Given the description of an element on the screen output the (x, y) to click on. 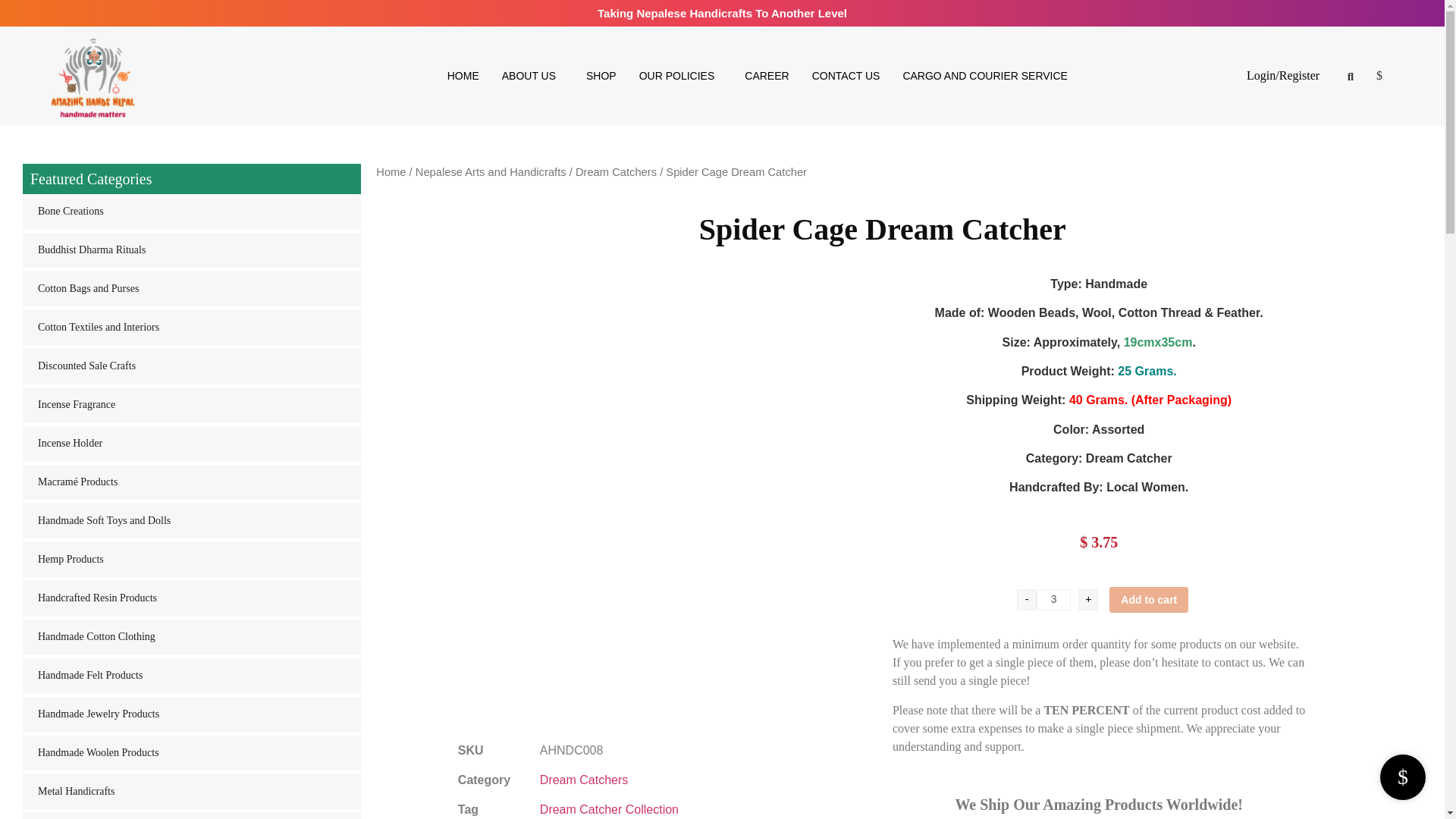
ABOUT US (532, 75)
CAREER (766, 75)
HOME (462, 75)
CONTACT US (845, 75)
Qty (1053, 599)
OUR POLICIES (680, 75)
CARGO AND COURIER SERVICE (984, 75)
3 (1053, 599)
SHOP (601, 75)
